Given the description of an element on the screen output the (x, y) to click on. 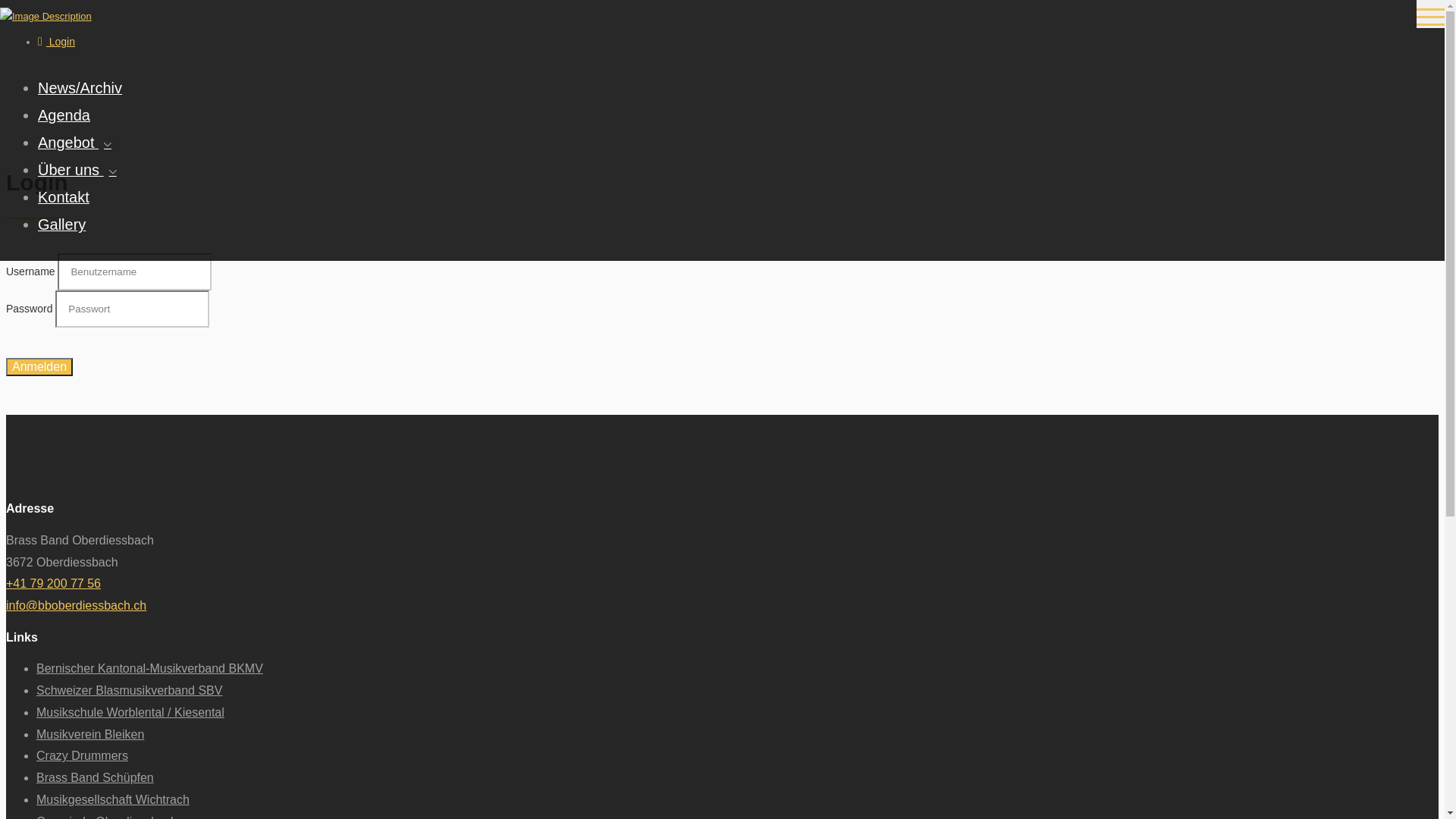
Musikgesellschaft Wichtrach Element type: text (112, 799)
Angebot Element type: text (74, 142)
Crazy Drummers Element type: text (82, 755)
+41 79 200 77 56 Element type: text (53, 583)
Schweizer Blasmusikverband SBV Element type: text (129, 690)
Kontakt Element type: text (63, 196)
info@bboberdiessbach.ch Element type: text (76, 605)
Agenda Element type: text (63, 114)
Bernischer Kantonal-Musikverband BKMV Element type: text (149, 668)
Musikverein Bleiken Element type: text (90, 734)
Login Element type: text (56, 41)
Gallery Element type: text (61, 224)
News/Archiv Element type: text (79, 87)
Musikschule Worblental / Kiesental Element type: text (130, 712)
Anmelden Element type: text (39, 366)
